Given the description of an element on the screen output the (x, y) to click on. 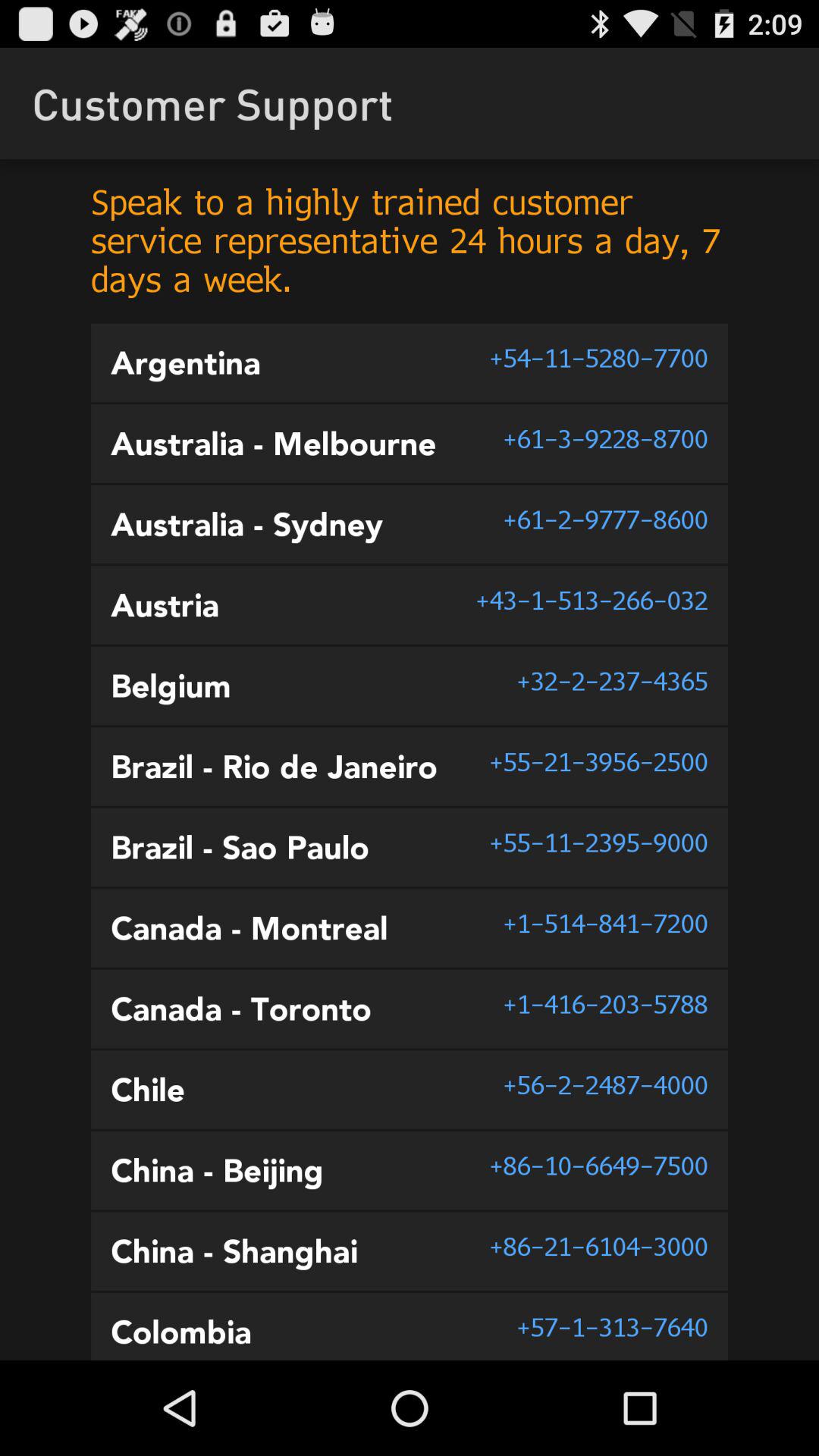
open the 56 2 2487 icon (605, 1084)
